Given the description of an element on the screen output the (x, y) to click on. 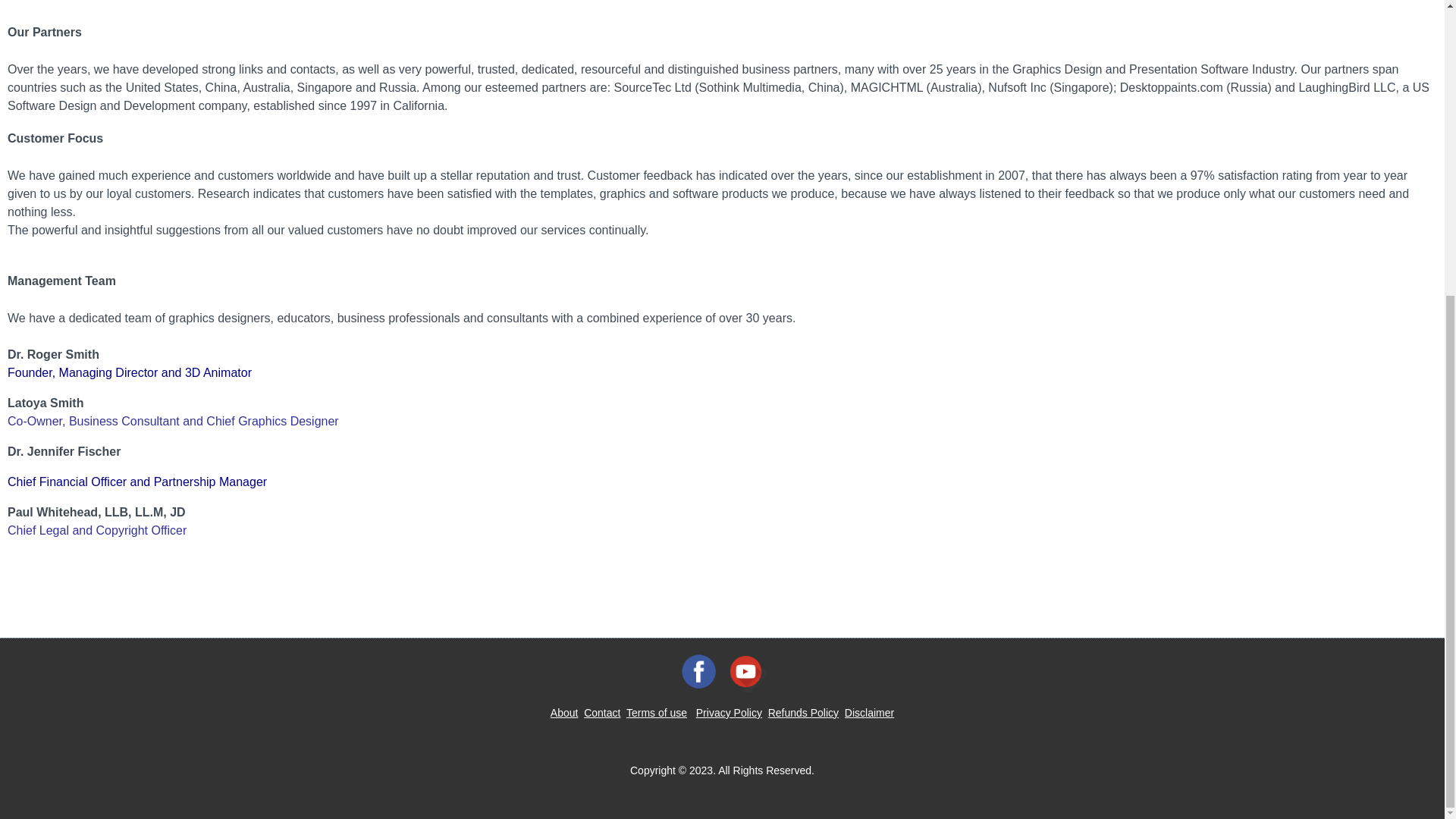
Terms of use (656, 712)
Refunds Policy (803, 712)
About (564, 712)
Privacy Policy (728, 712)
Contact (601, 712)
Disclaimer (868, 712)
